Given the description of an element on the screen output the (x, y) to click on. 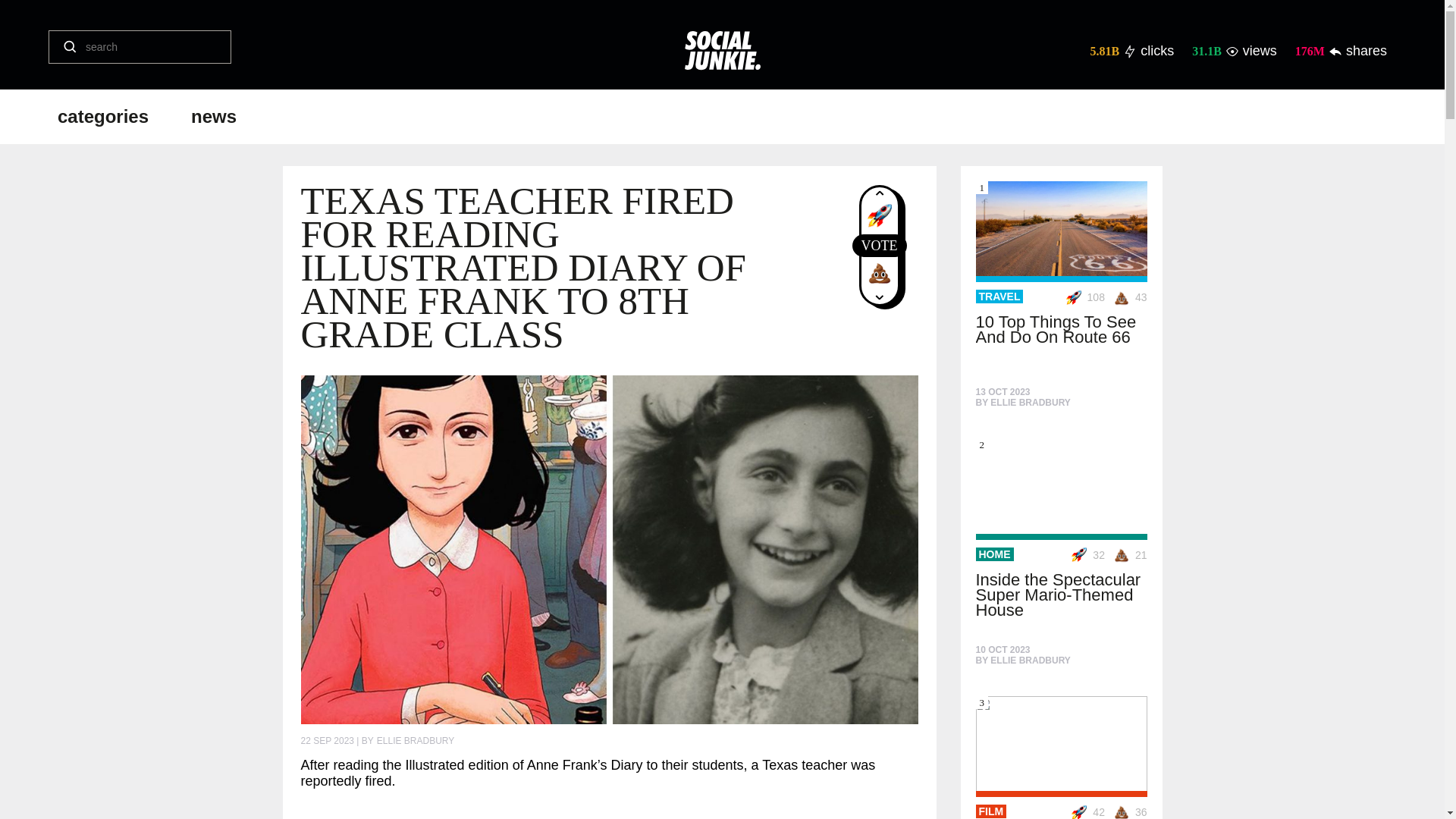
categories (103, 116)
Fire (1081, 297)
ELLIE BRADBURY (415, 740)
news (213, 116)
Trash (879, 273)
news (213, 116)
Fire (879, 215)
categories (103, 116)
